Given the description of an element on the screen output the (x, y) to click on. 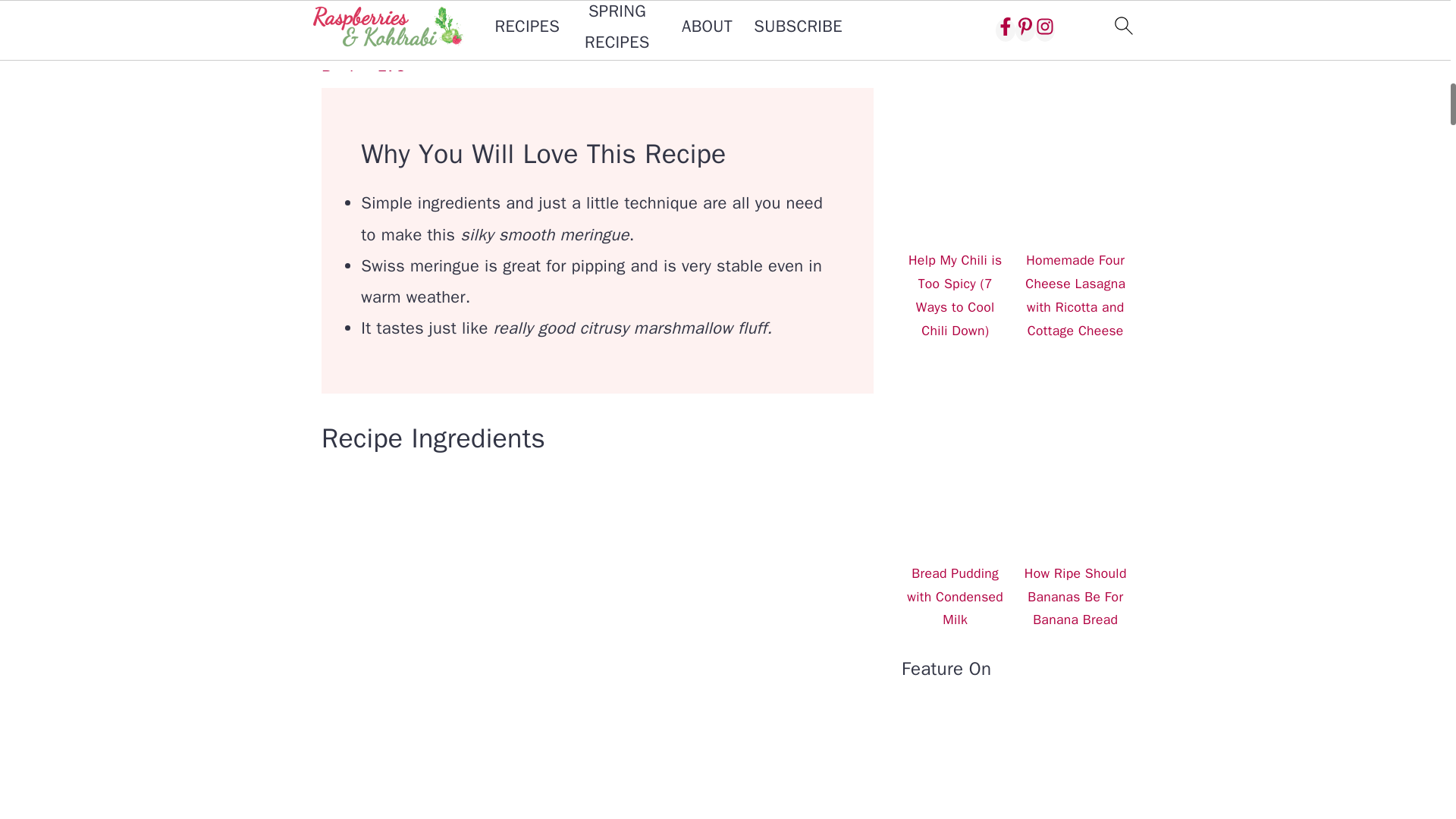
Four Stages of Meringue (413, 44)
Recipe FAQs (367, 76)
Step by Step Directions (409, 13)
